Given the description of an element on the screen output the (x, y) to click on. 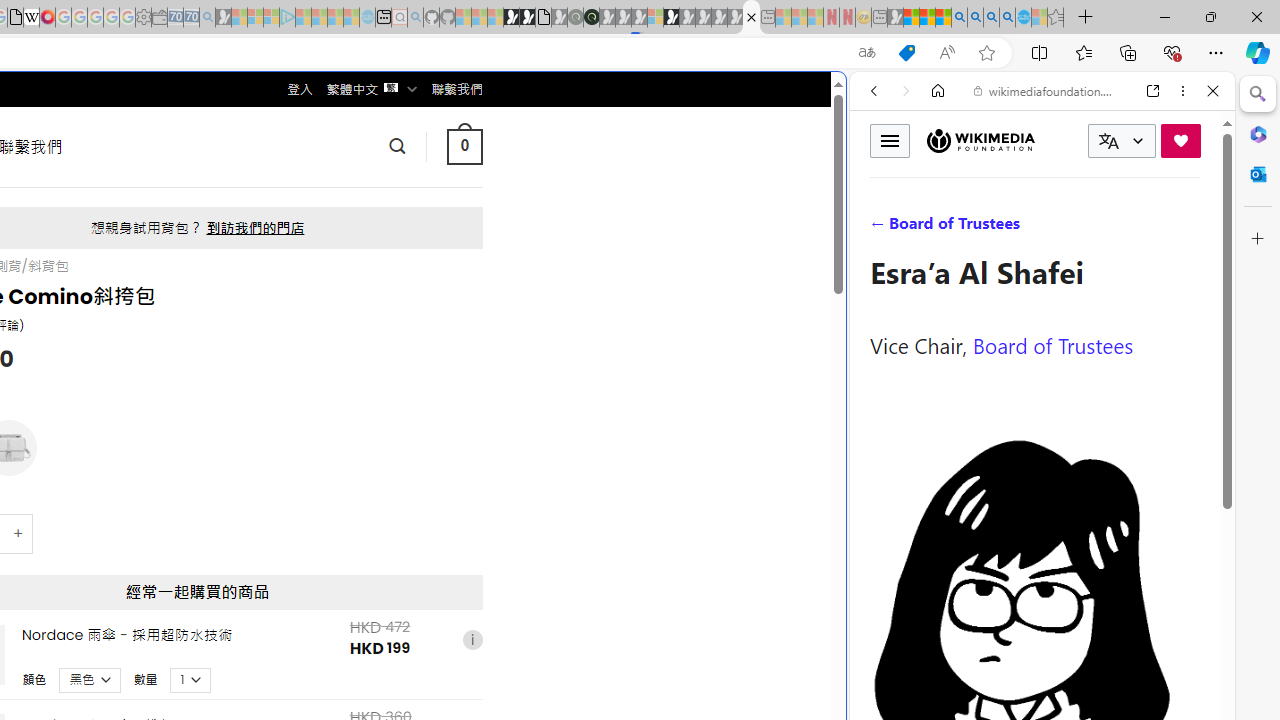
Wikimedia Foundation (980, 140)
Search Filter, IMAGES (939, 228)
VIDEOS (1006, 228)
This site scope (936, 180)
Settings - Sleeping (143, 17)
